Given the description of an element on the screen output the (x, y) to click on. 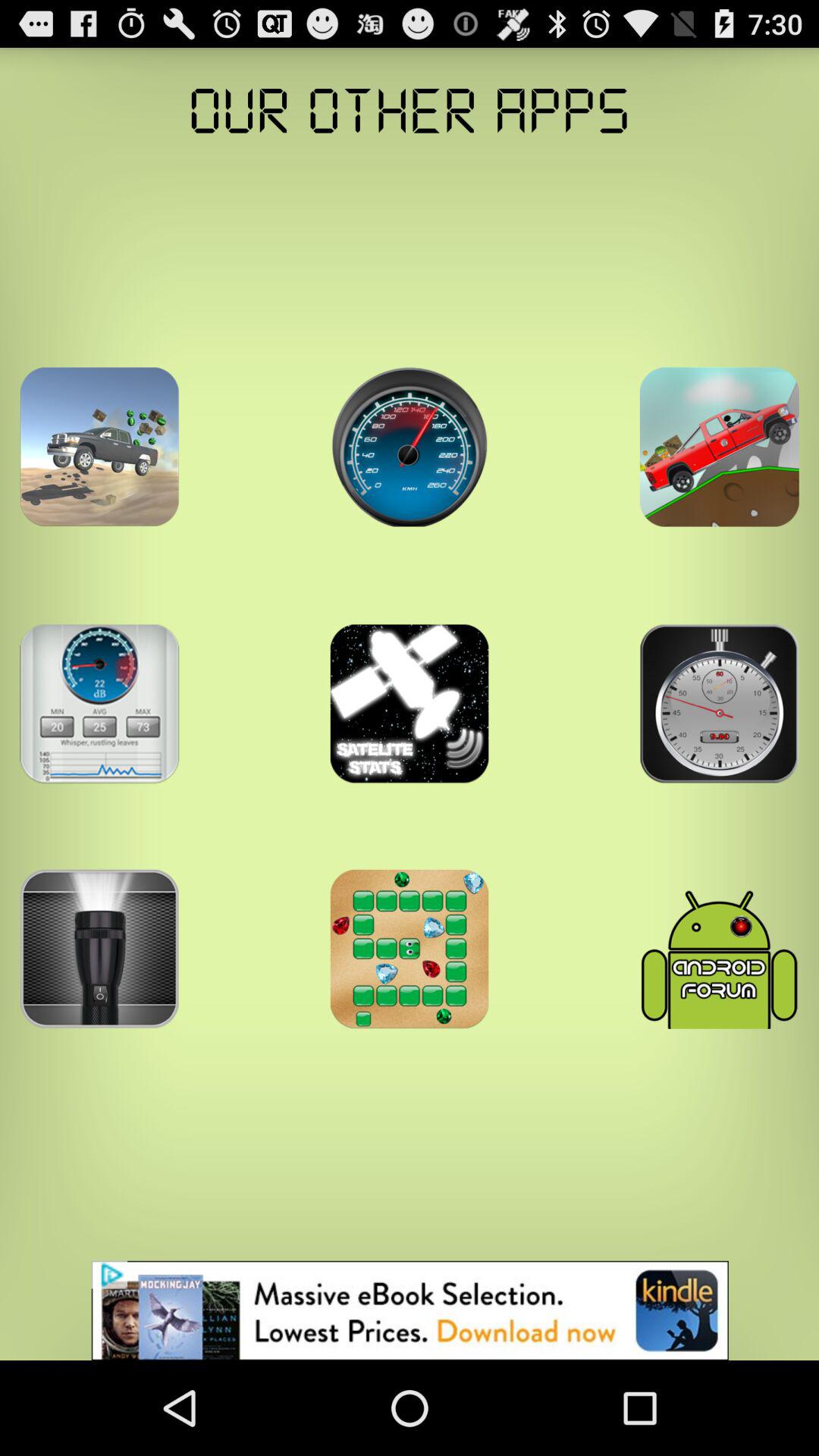
select torch (99, 948)
